Given the description of an element on the screen output the (x, y) to click on. 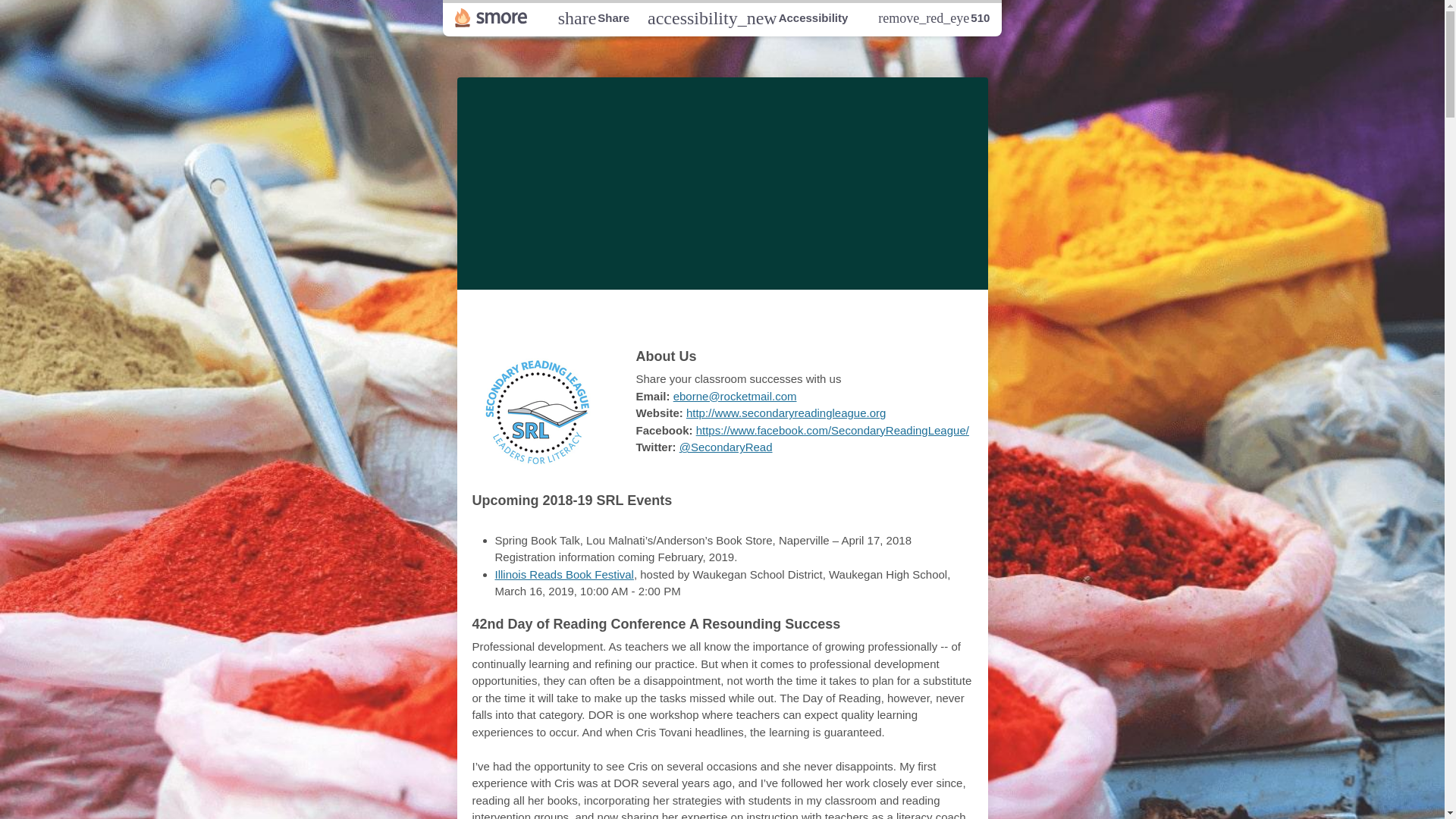
2019 (592, 18)
January (765, 316)
Illinois Reads Book Festival (721, 317)
